Given the description of an element on the screen output the (x, y) to click on. 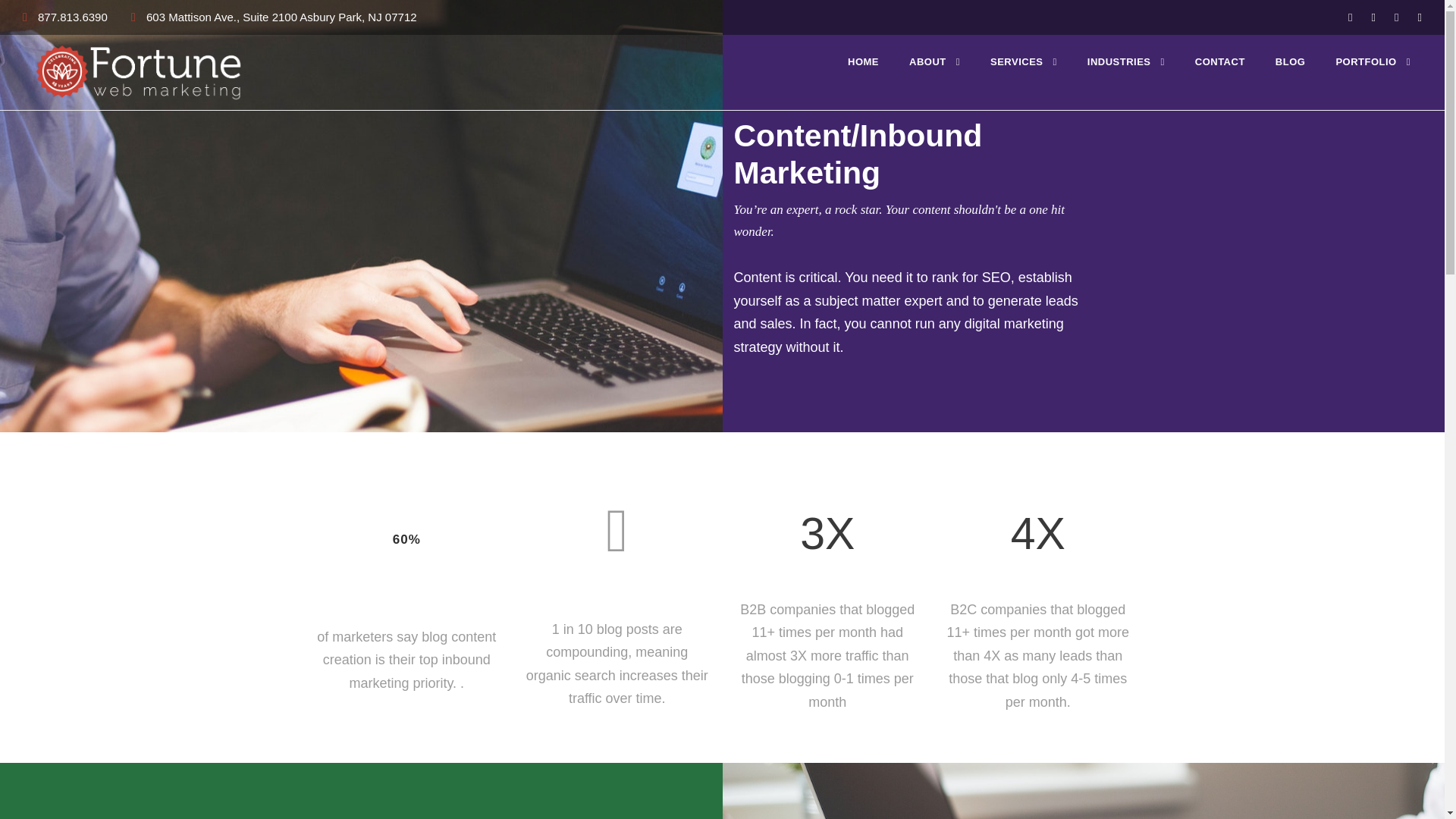
CONTACT (1219, 61)
FWM-Logo-15-year-2x (138, 71)
BLOG (1290, 61)
603 Mattison Ave., Suite 2100 Asbury Park, NJ 07712 (281, 16)
PORTFOLIO (1372, 61)
ABOUT (933, 61)
SERVICES (1023, 61)
877.813.6390 (72, 16)
INDUSTRIES (1125, 61)
HOME (863, 61)
